Given the description of an element on the screen output the (x, y) to click on. 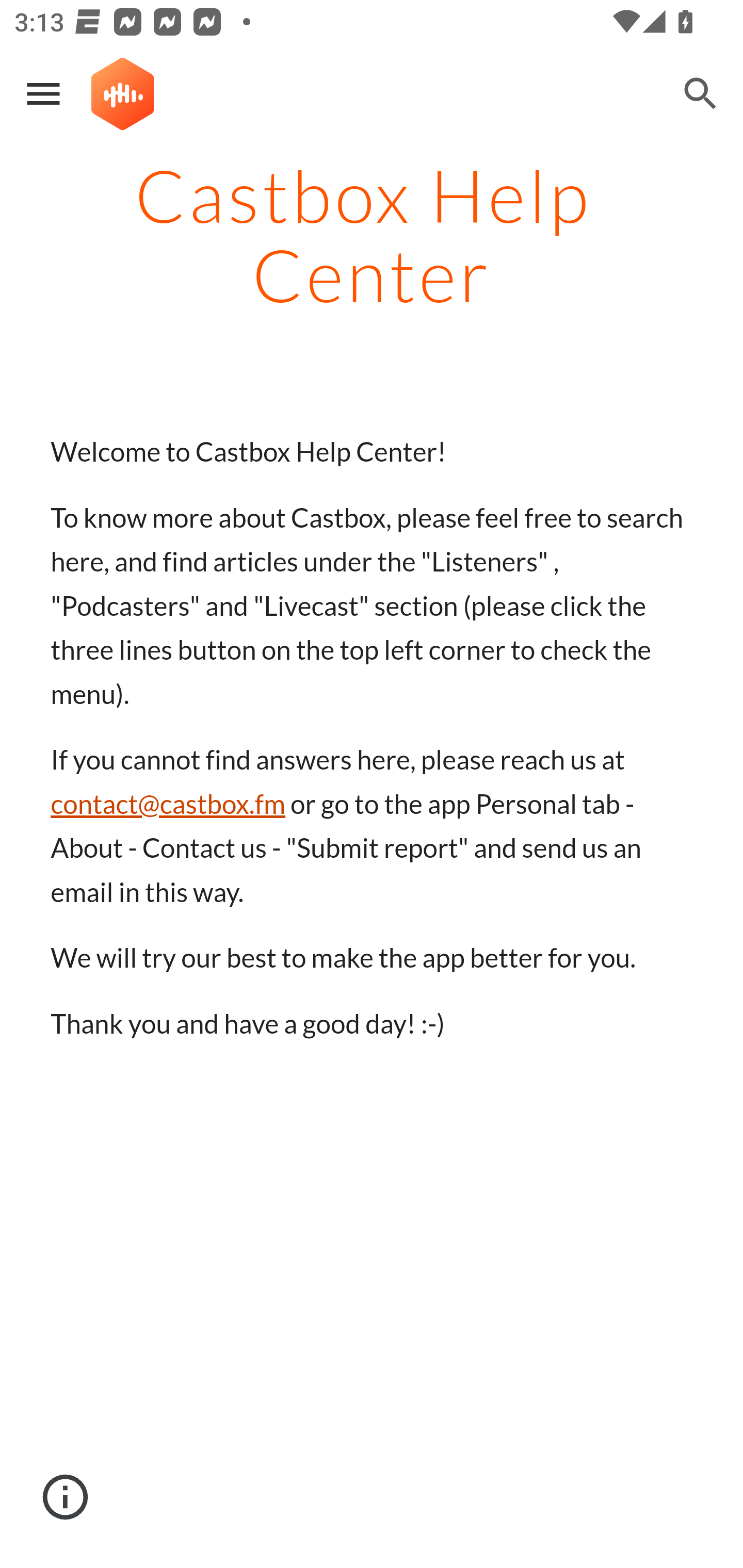
Skip to navigation (608, 109)
contact@castbox.fm (168, 804)
Site actions (65, 1497)
